Given the description of an element on the screen output the (x, y) to click on. 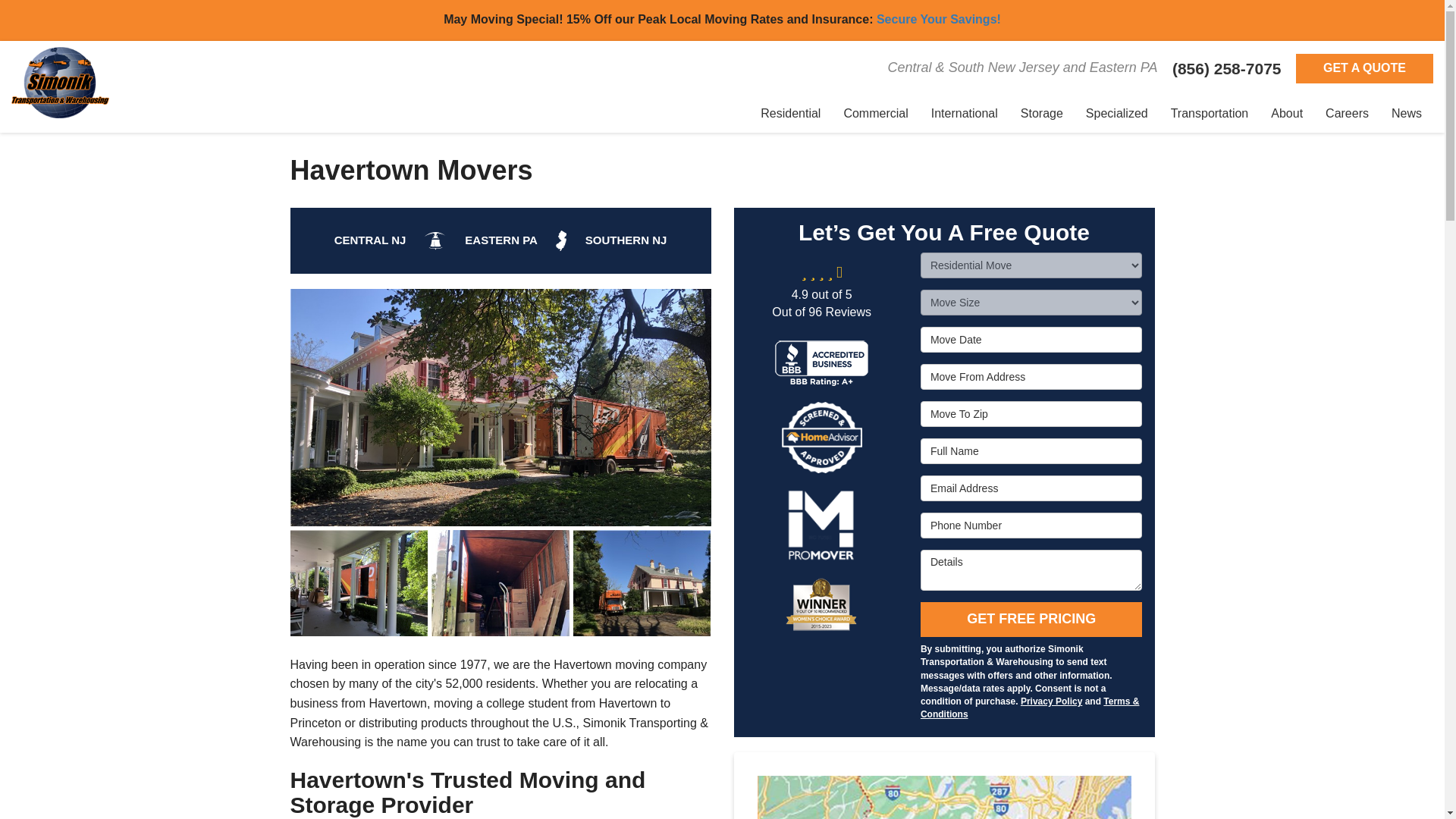
Commercial (874, 113)
International (964, 113)
Secure Your Savings! (938, 19)
Specialized (1116, 113)
Residential (790, 113)
GET A QUOTE (1363, 68)
GET A QUOTE (1363, 68)
Storage (1041, 113)
